Given the description of an element on the screen output the (x, y) to click on. 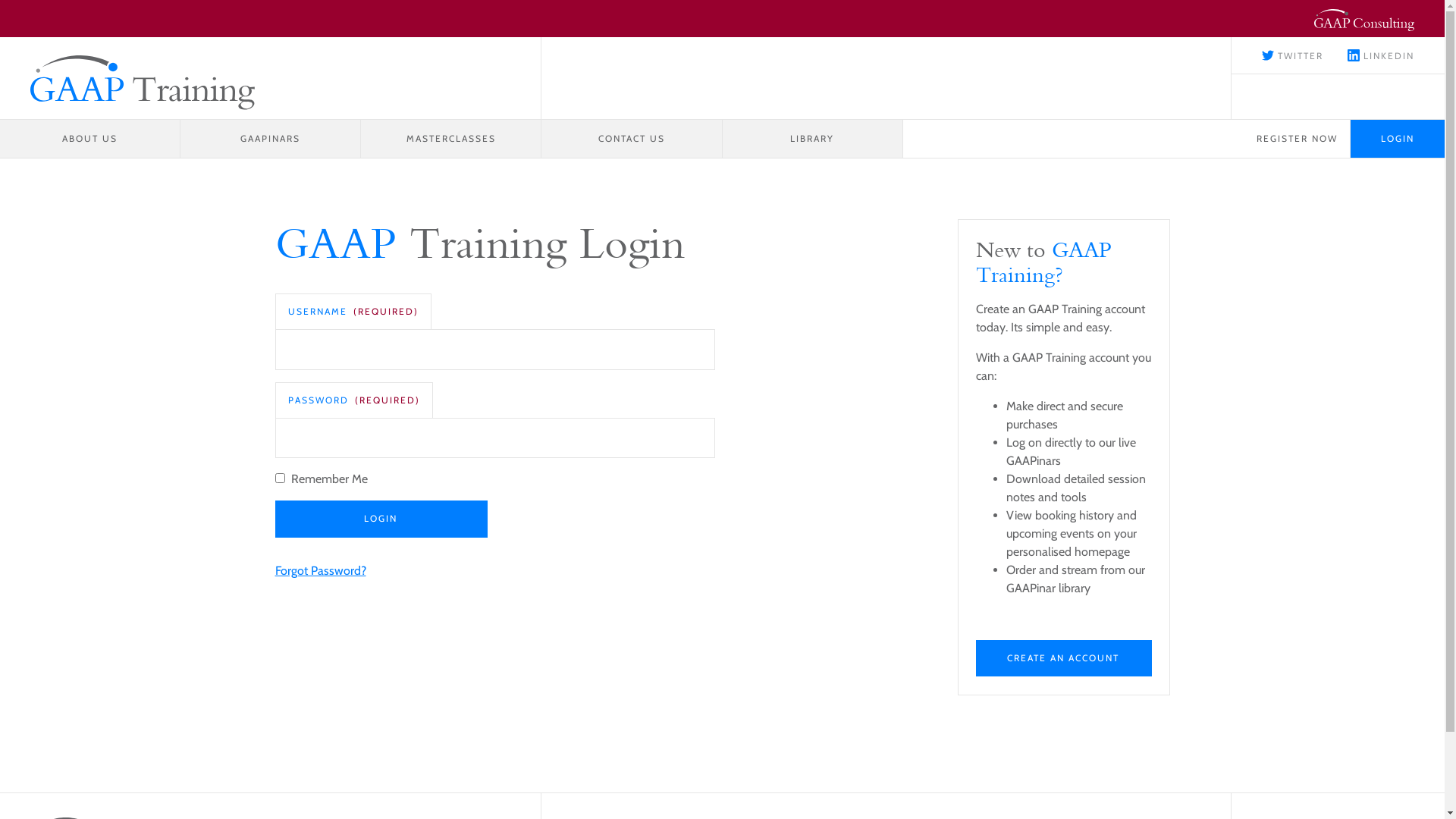
Forgot Password? Element type: text (319, 570)
LOGIN Element type: text (1397, 138)
GAAPINARS Element type: text (270, 138)
Login Element type: text (380, 518)
CONTACT US Element type: text (631, 138)
TWITTER Element type: text (1292, 55)
REGISTER NOW Element type: text (1297, 138)
ABOUT US Element type: text (90, 138)
MASTERCLASSES Element type: text (450, 138)
LINKEDIN Element type: text (1380, 55)
CREATE AN ACCOUNT Element type: text (1063, 658)
LIBRARY Element type: text (811, 138)
